Given the description of an element on the screen output the (x, y) to click on. 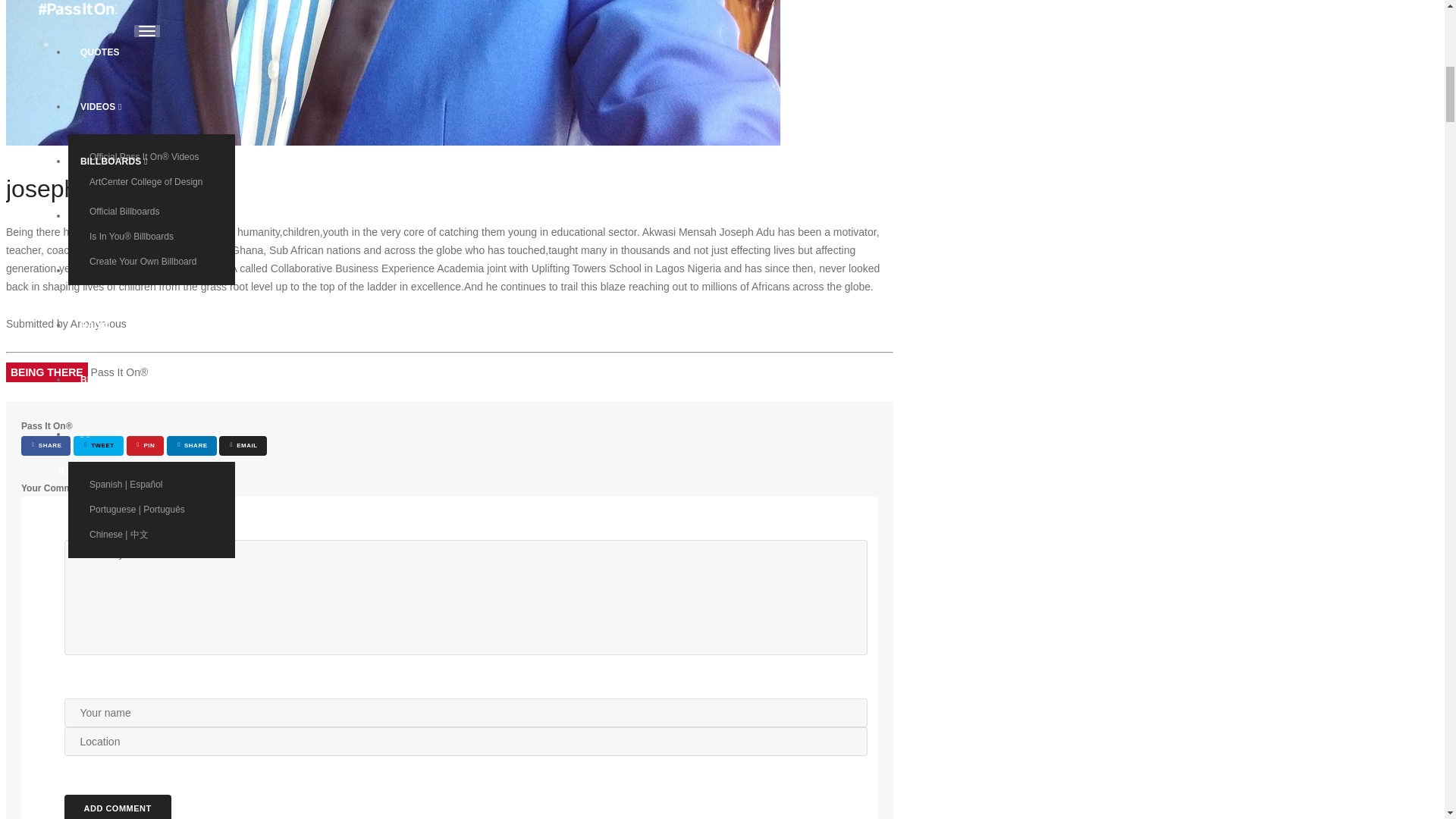
  EMAIL (242, 445)
Add Comment (117, 806)
  TWEET (98, 445)
Add Comment (117, 806)
  SHARE (45, 445)
  SHARE (191, 445)
  PIN (145, 445)
